Given the description of an element on the screen output the (x, y) to click on. 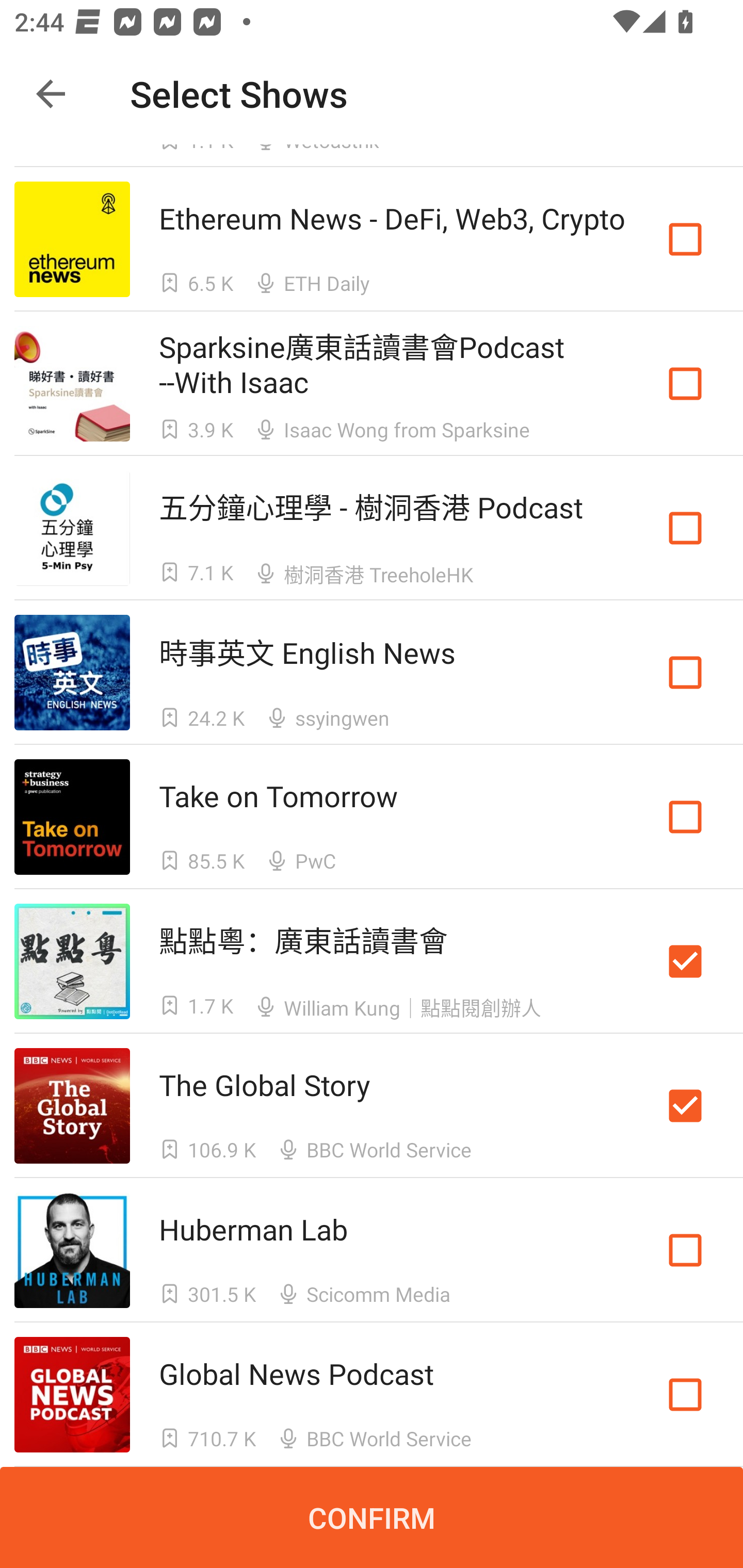
Navigate up (50, 93)
Take on Tomorrow Take on Tomorrow  85.5 K  PwC (371, 816)
CONFIRM (371, 1517)
